Given the description of an element on the screen output the (x, y) to click on. 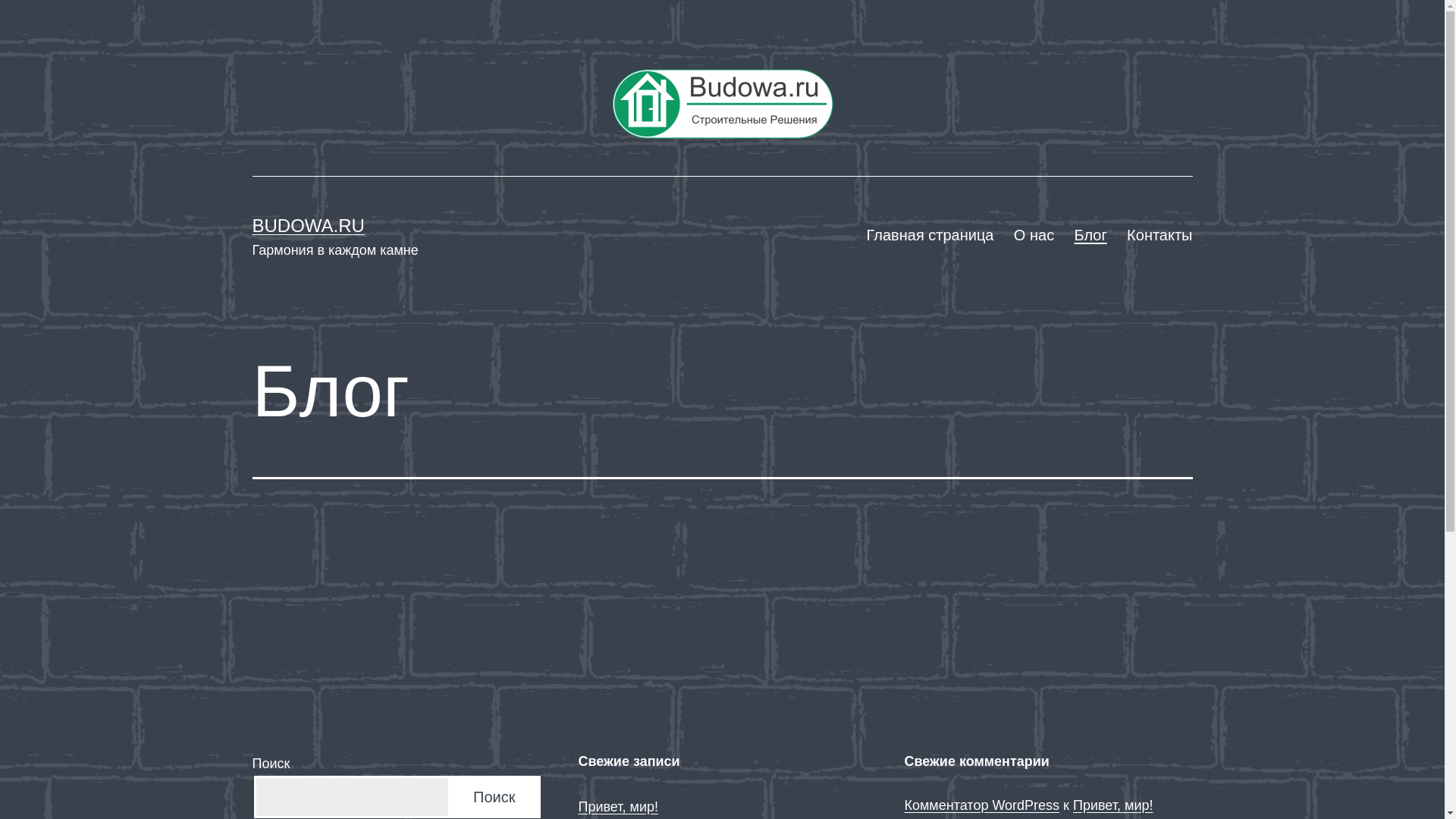
BUDOWA.RU Element type: text (307, 225)
